Given the description of an element on the screen output the (x, y) to click on. 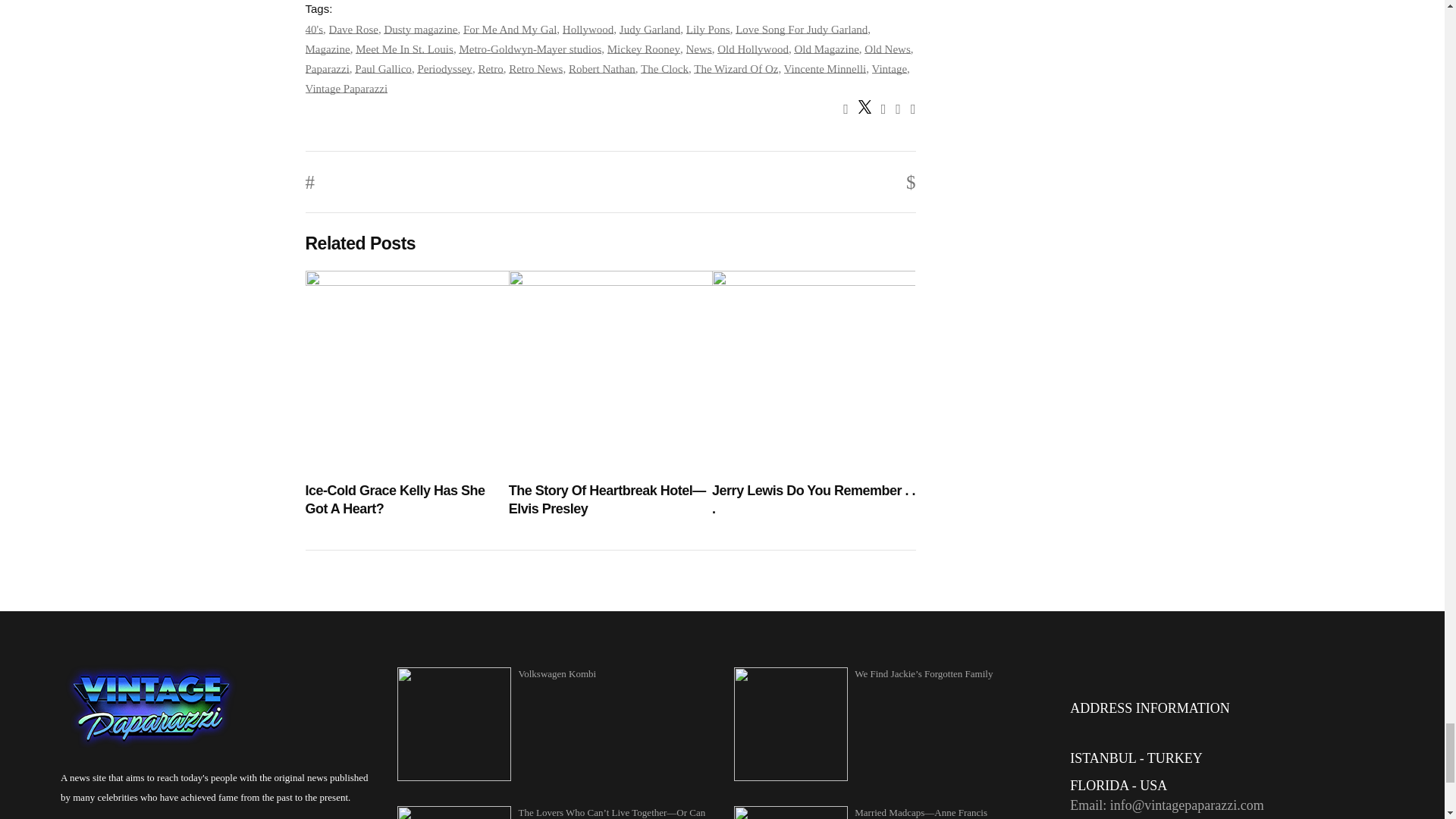
Jerry Lewis Do You Remember . . . (813, 499)
Ice-Cold Grace Kelly Has She Got A Heart? (406, 499)
